Given the description of an element on the screen output the (x, y) to click on. 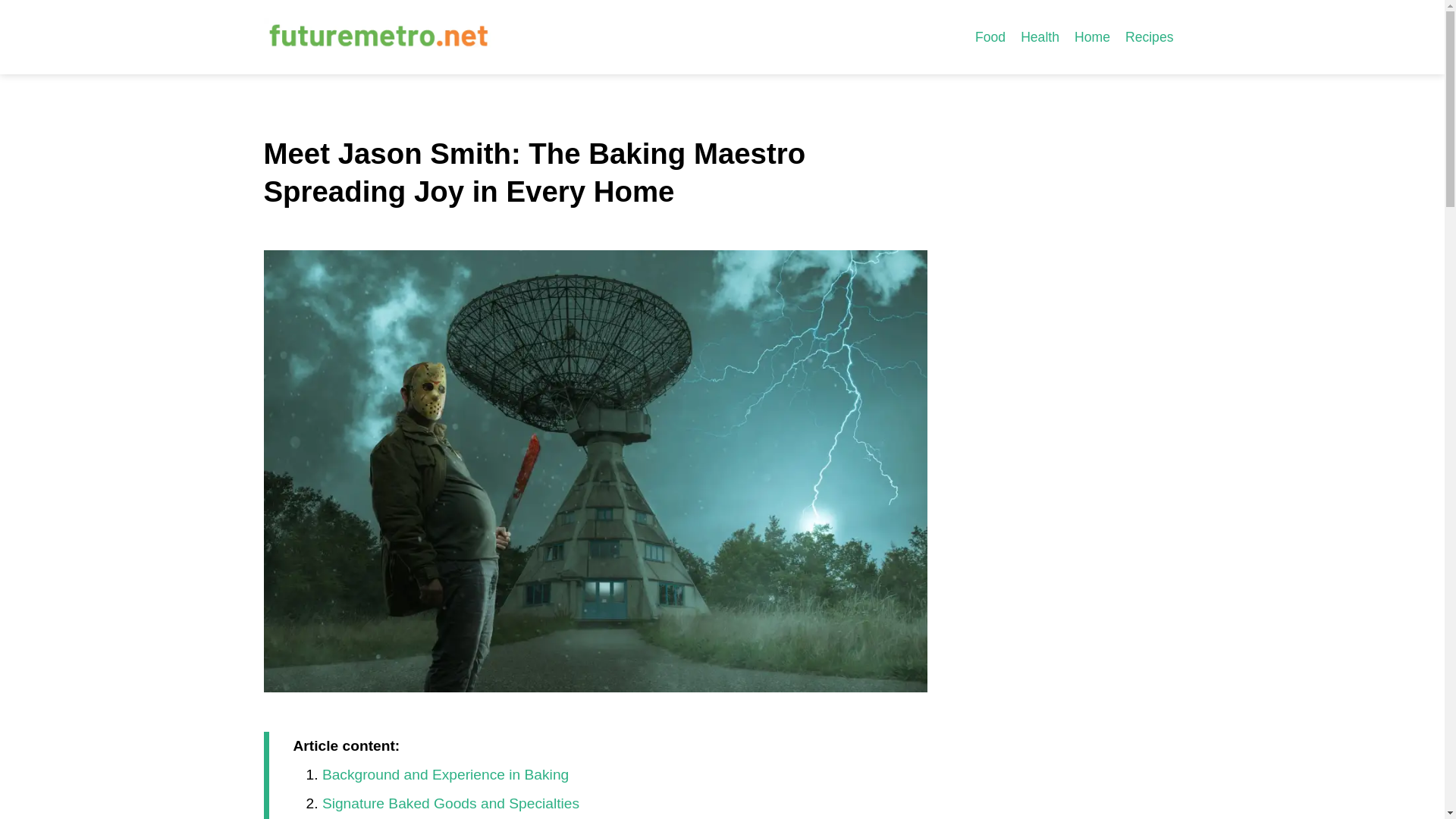
Health (1040, 36)
Signature Baked Goods and Specialties (450, 803)
Background and Experience in Baking (445, 774)
Recipes (1149, 36)
Food (990, 36)
Home (1092, 36)
